Given the description of an element on the screen output the (x, y) to click on. 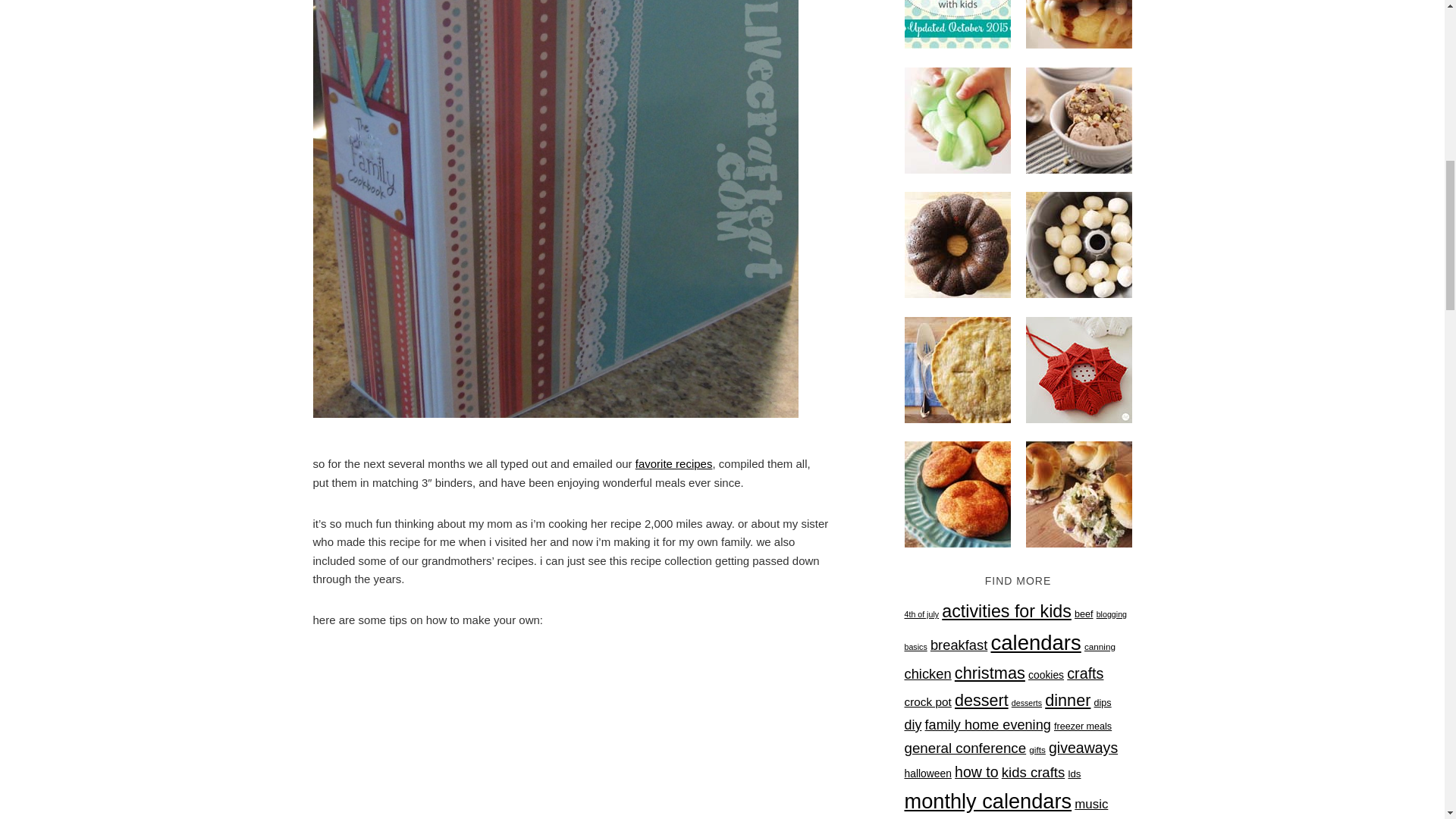
chicken pot pie (957, 367)
overnight monkey bread (1078, 242)
bundt cake (957, 242)
homemade flubber (957, 118)
snicker doodles (957, 491)
homemade nutella ice cream (1078, 118)
general conference kids guide (957, 24)
homemade cinnamon rolls (1078, 24)
diy christmas tree ornament (1078, 367)
chicken salad sandwichs (1078, 491)
